Given the description of an element on the screen output the (x, y) to click on. 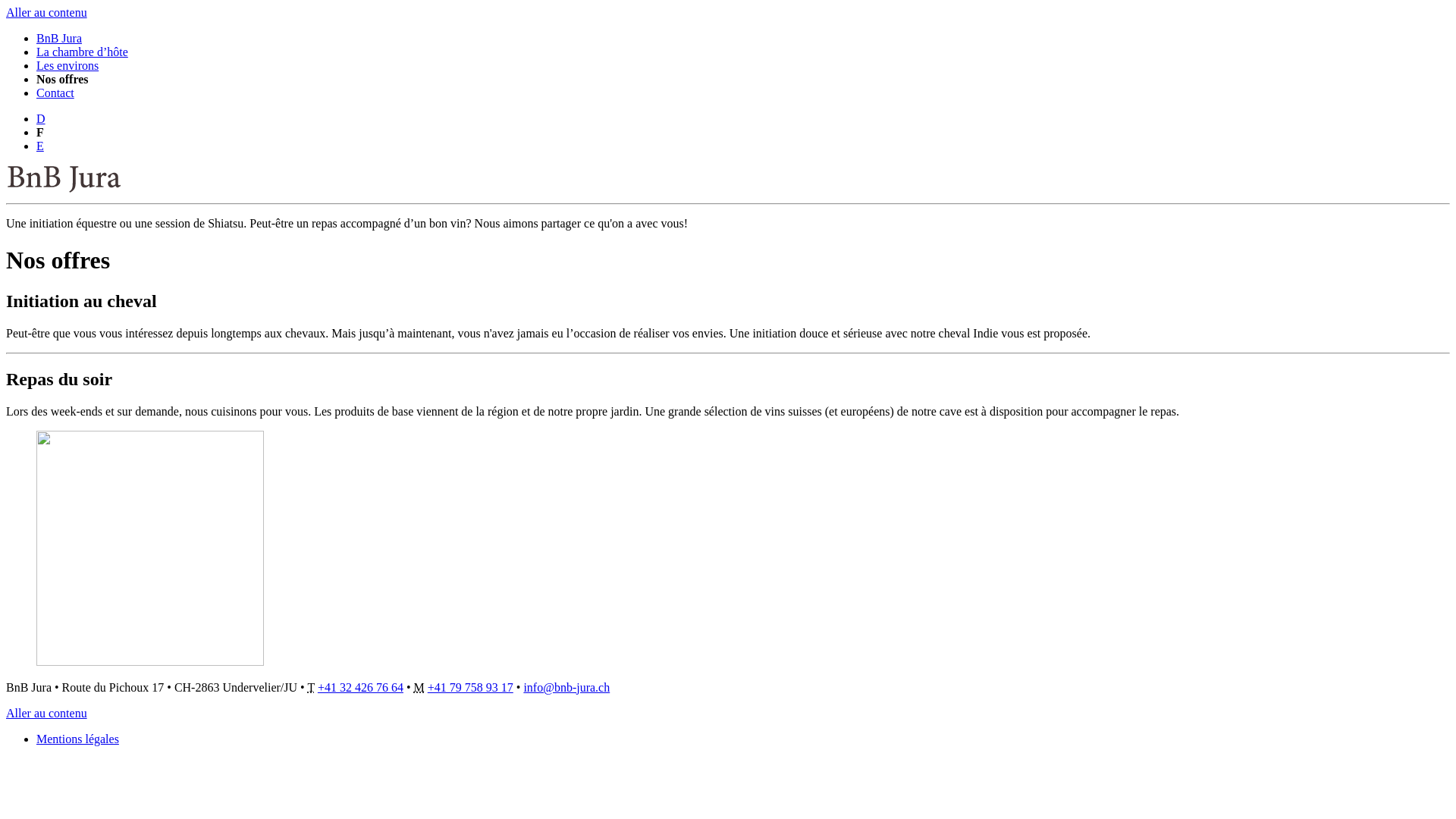
Les environs Element type: text (67, 65)
Aller au contenu Element type: text (46, 712)
+41 32 426 76 64 Element type: text (360, 686)
info@bnb-jura.ch Element type: text (566, 686)
+41 79 758 93 17 Element type: text (470, 686)
D Element type: text (40, 118)
BnB Jura Element type: text (58, 37)
Contact Element type: text (55, 92)
Aller au contenu Element type: text (46, 12)
E Element type: text (39, 145)
